Given the description of an element on the screen output the (x, y) to click on. 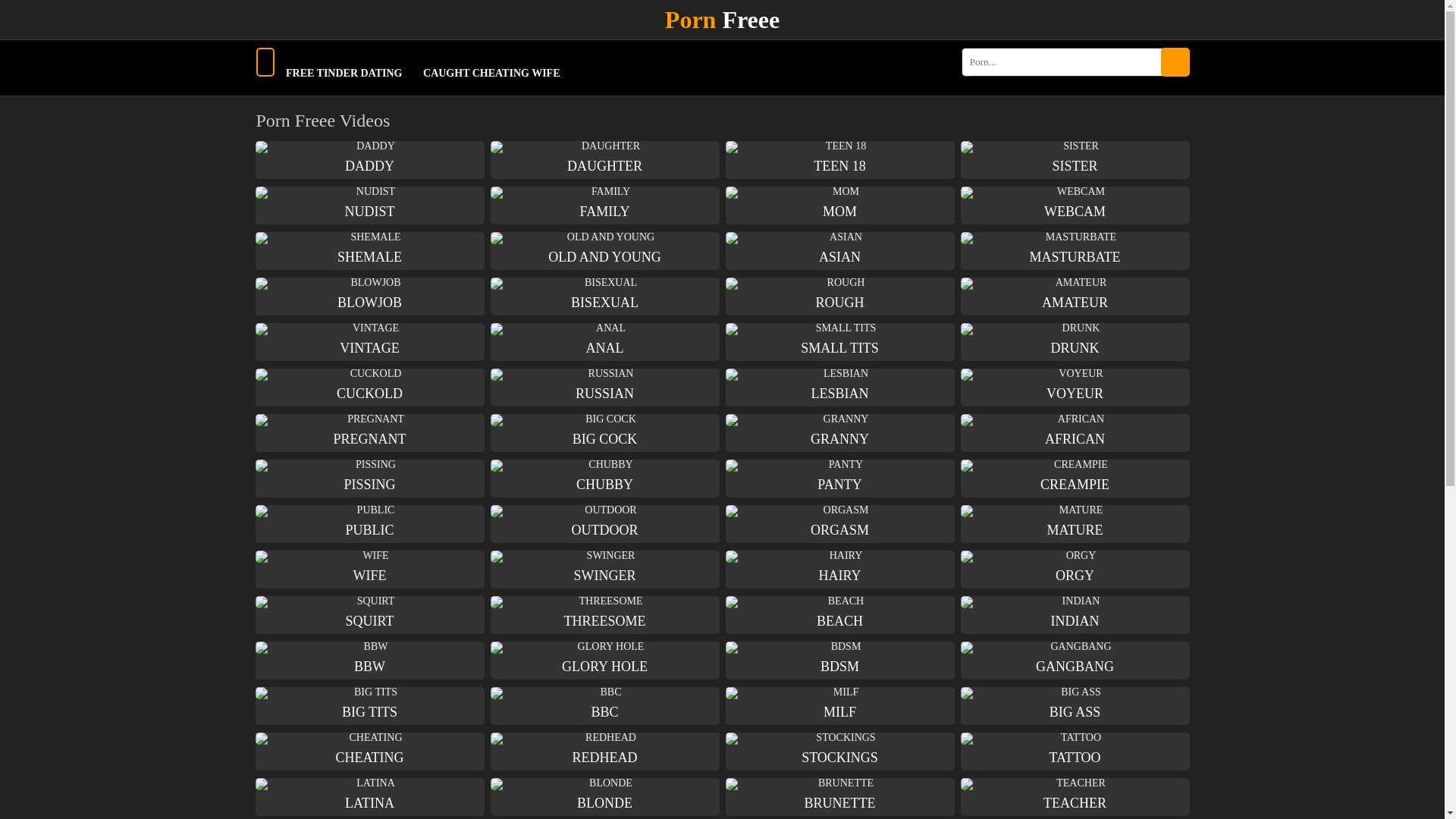
FAMILY XXX (604, 207)
VINTAGE XXX (368, 343)
CUCKOLD (368, 389)
ANAL (604, 343)
BLOWJOB (368, 298)
LESBIAN (839, 389)
PISSING (368, 480)
SISTER (1074, 161)
MASTURBATE (1074, 252)
DADDY XXX (368, 161)
Caught cheating wife in the act (491, 72)
WEBCAM XXX (1074, 207)
VINTAGE (368, 343)
RUSSIAN (604, 389)
GRANNY (839, 434)
